Given the description of an element on the screen output the (x, y) to click on. 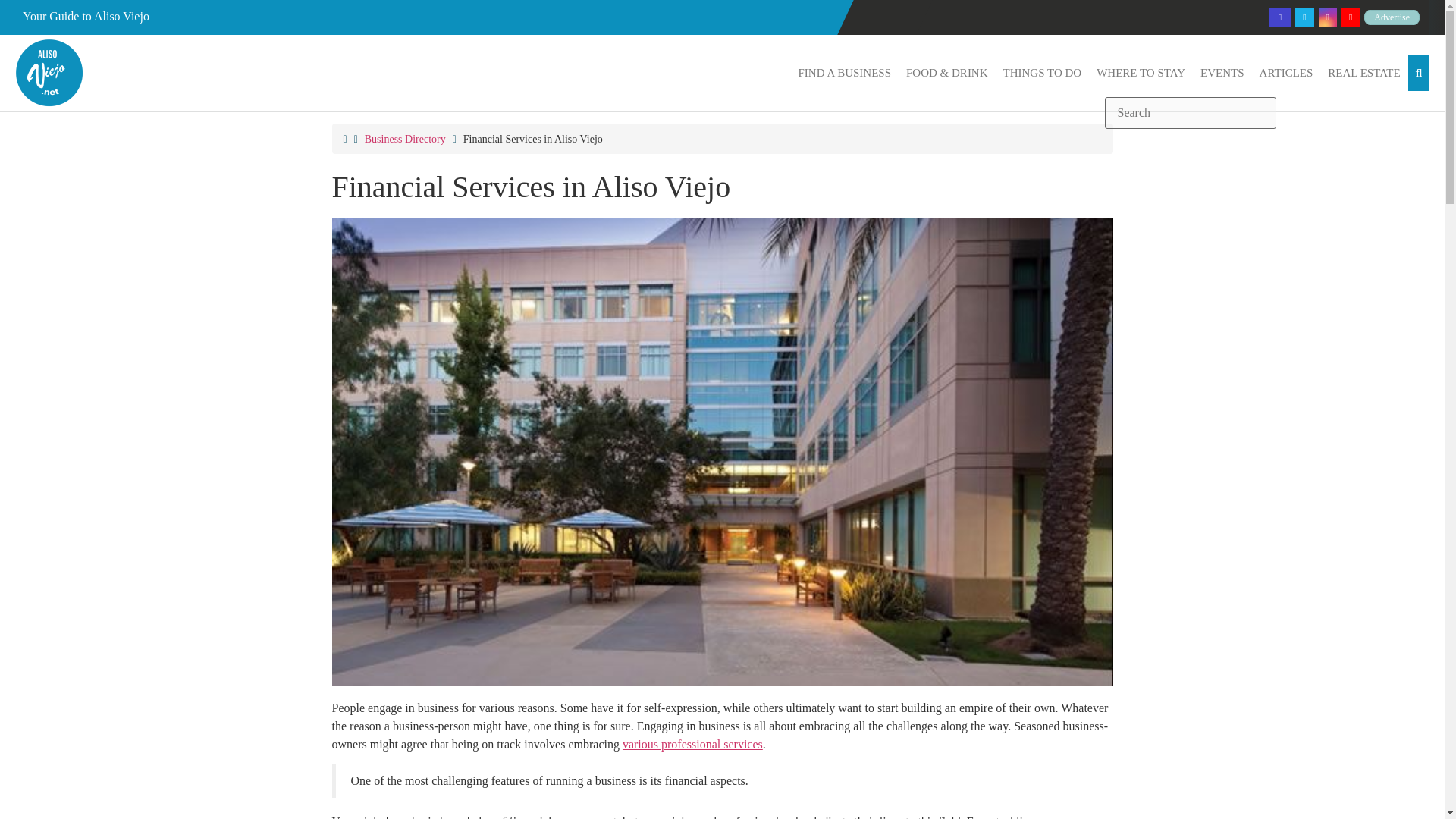
ARTICLES (1286, 72)
EVENTS (1222, 72)
Aliso Viejo logo (48, 72)
Advertise (1391, 17)
WHERE TO STAY (1140, 72)
THINGS TO DO (1042, 72)
FIND A BUSINESS (844, 72)
